Given the description of an element on the screen output the (x, y) to click on. 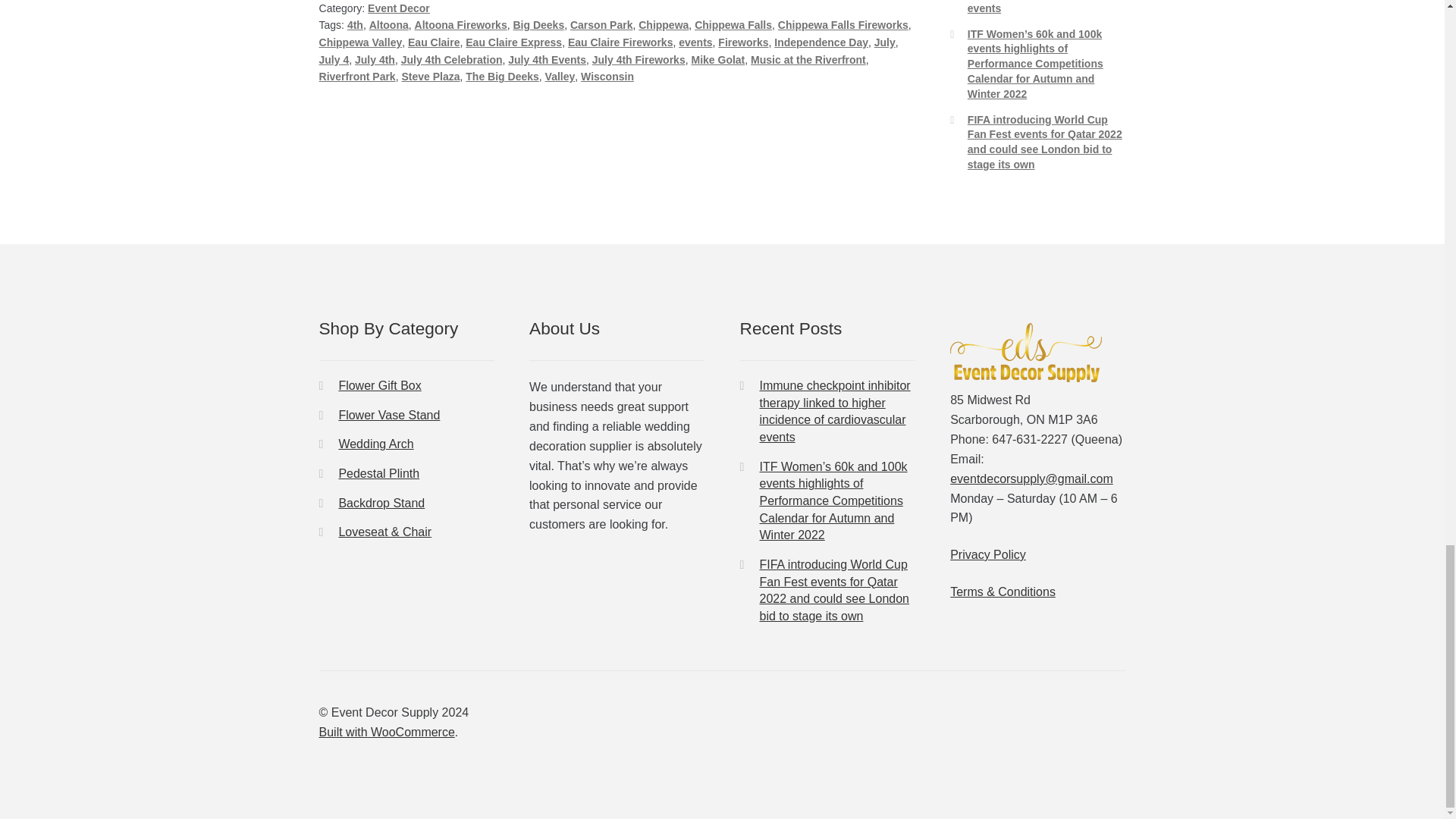
WooCommerce - The Best eCommerce Platform for WordPress (386, 731)
4th (354, 24)
Event Decor (398, 8)
Altoona (389, 24)
